Given the description of an element on the screen output the (x, y) to click on. 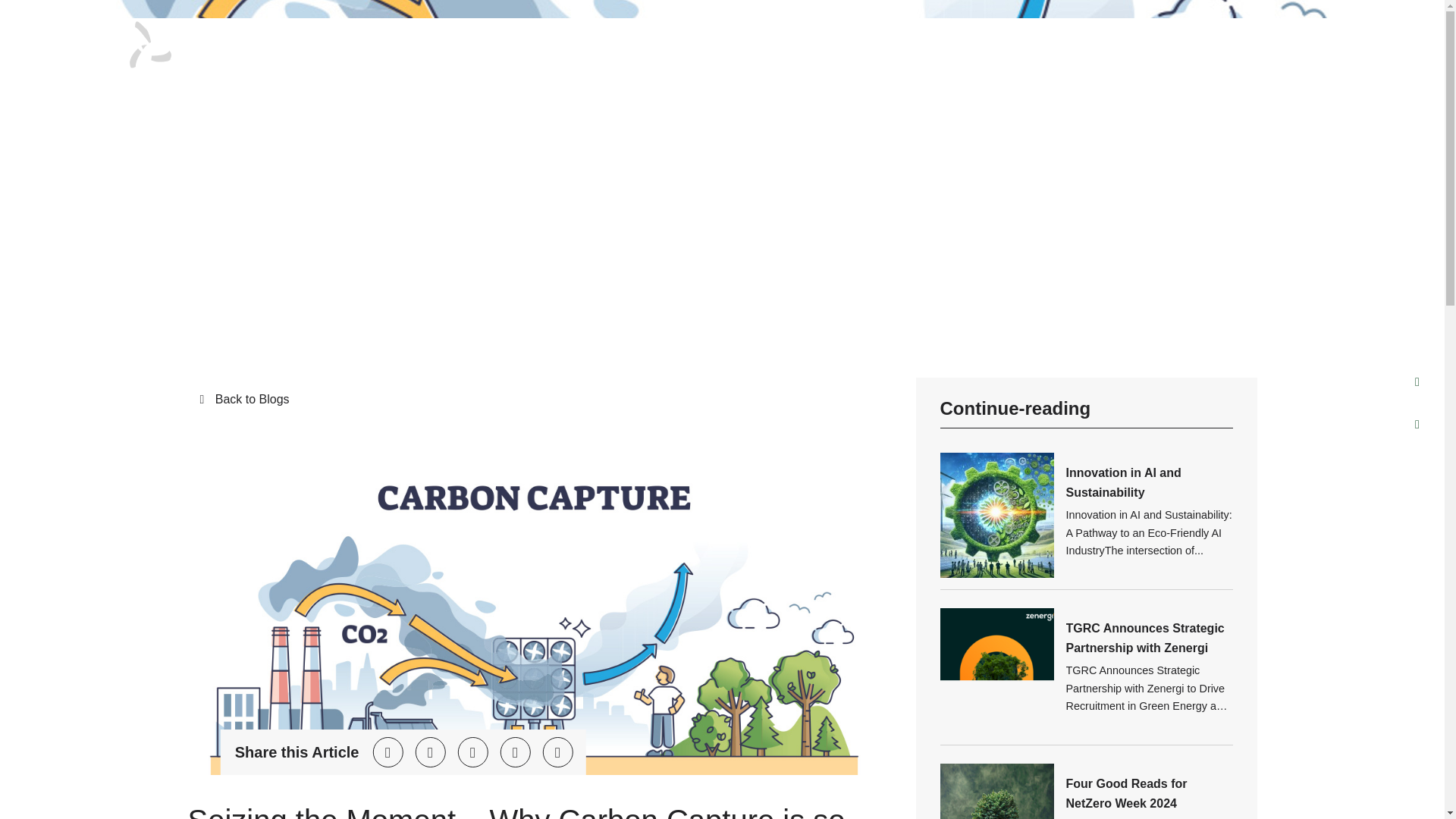
Email this (514, 752)
SECTORS (1003, 40)
share on LinkedIn (472, 752)
Back to Blogs (533, 399)
SERVICES (1088, 40)
share on Facebook (429, 752)
MEET THE TEAM (783, 40)
ABOUT (628, 40)
Upload CV (1245, 46)
send in Whatsapp (556, 752)
Tweet this (387, 752)
JOBS (693, 40)
